Given the description of an element on the screen output the (x, y) to click on. 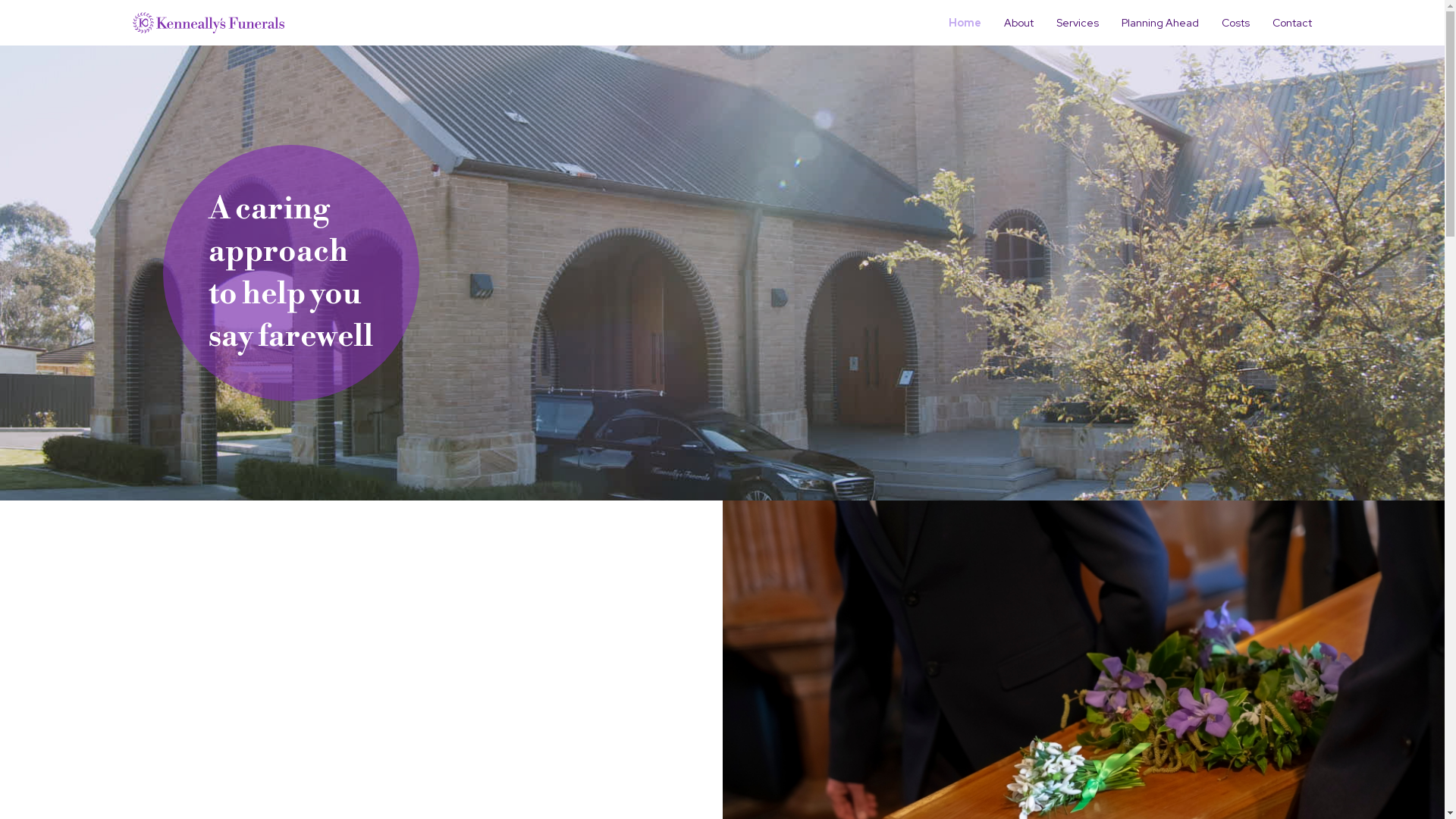
Home Element type: text (964, 22)
Planning Ahead Element type: text (1159, 22)
Costs Element type: text (1235, 22)
Contact Element type: text (1291, 22)
About Element type: text (1018, 22)
Services Element type: text (1077, 22)
